Given the description of an element on the screen output the (x, y) to click on. 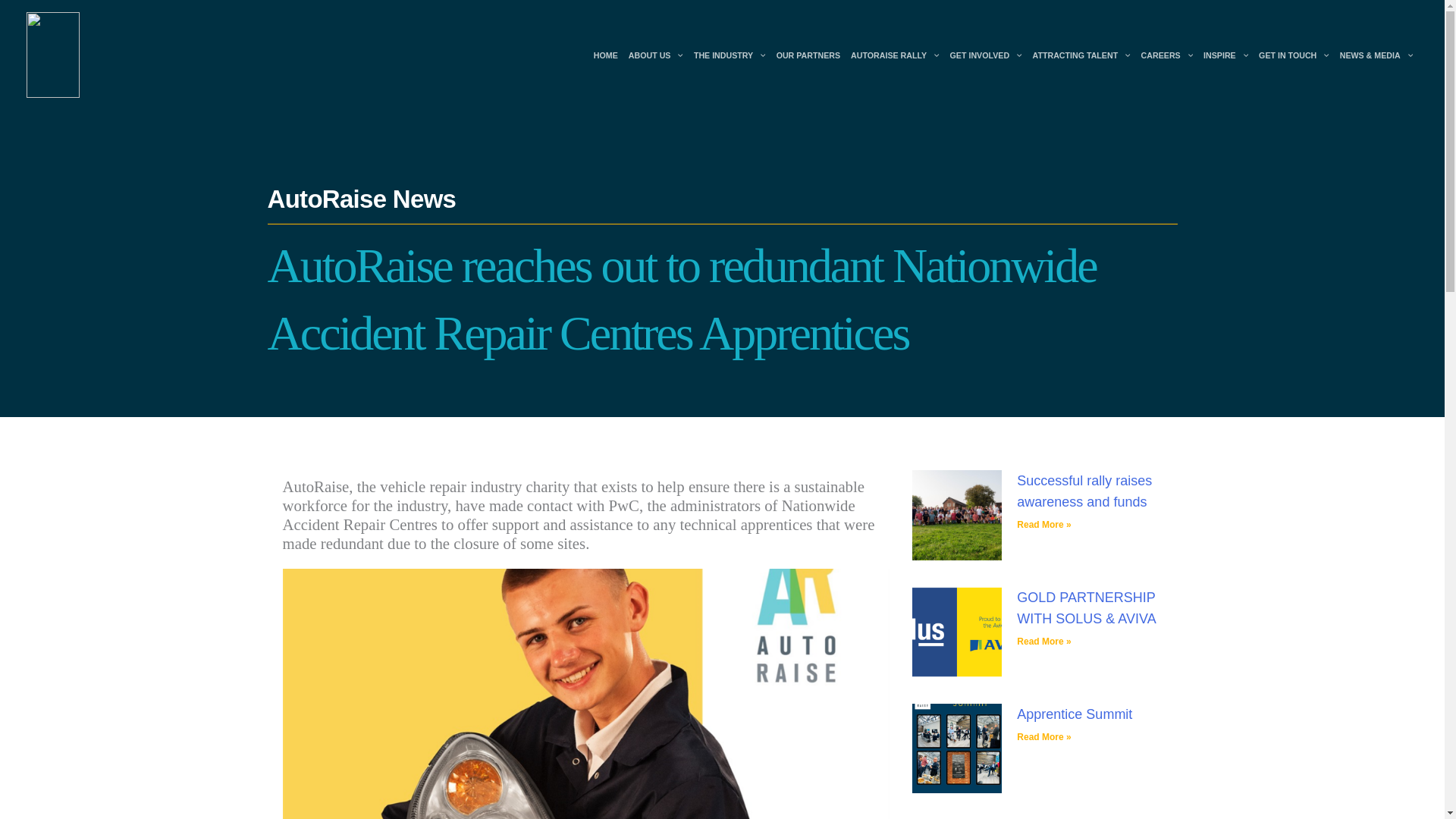
THE INDUSTRY (729, 54)
OUR PARTNERS (808, 54)
GET INVOLVED (985, 54)
CAREERS (1166, 54)
AUTORAISE RALLY (894, 54)
ABOUT US (655, 54)
ATTRACTING TALENT (1081, 54)
